Given the description of an element on the screen output the (x, y) to click on. 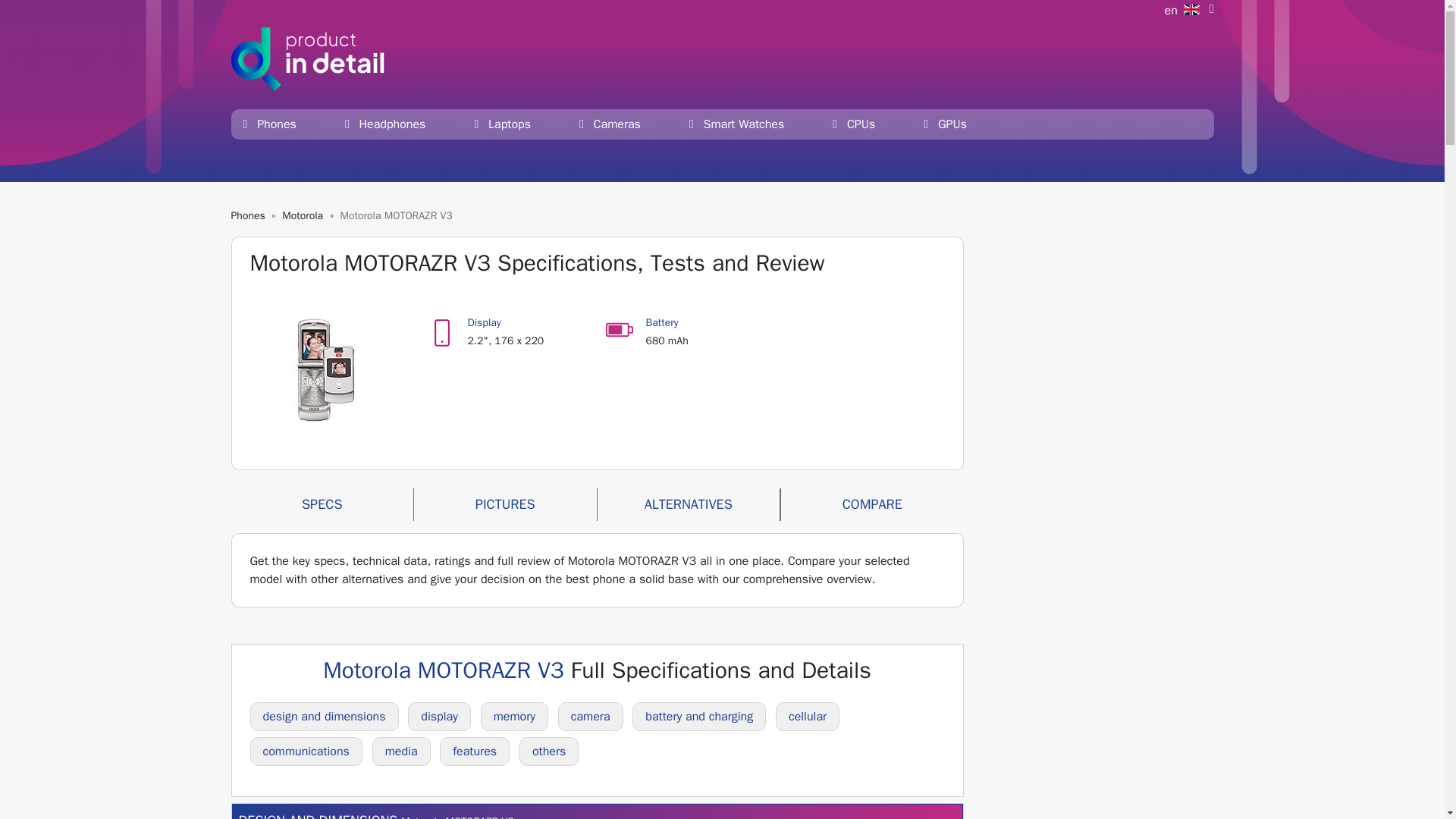
Cameras (609, 123)
Phones (247, 215)
CPUs (853, 123)
Headphones (385, 123)
Smart Watches (736, 123)
SPECS (321, 504)
en (1189, 10)
PICTURES (504, 504)
Phones (268, 123)
GPUs (944, 123)
Laptops (502, 123)
Motorola (302, 215)
